Given the description of an element on the screen output the (x, y) to click on. 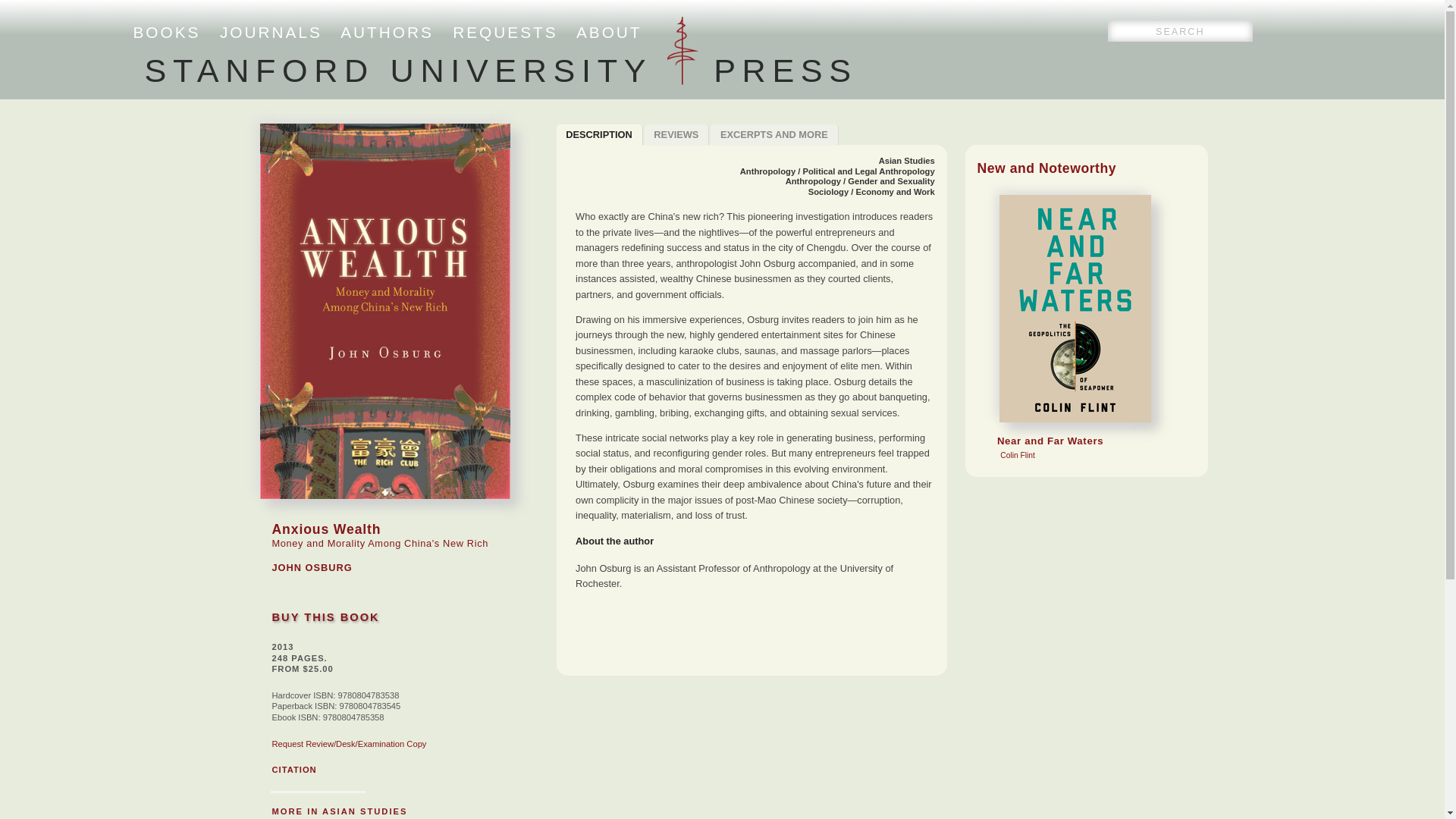
REQUESTS (504, 31)
ABOUT (609, 31)
STANFORD UNIVERSITY PRESS (500, 70)
CITATION (292, 768)
JOURNALS (270, 31)
BUY THIS BOOK (324, 616)
MORE IN ASIAN STUDIES (338, 810)
Asian Studies (906, 160)
REVIEWS (677, 134)
AUTHORS (386, 31)
